Given the description of an element on the screen output the (x, y) to click on. 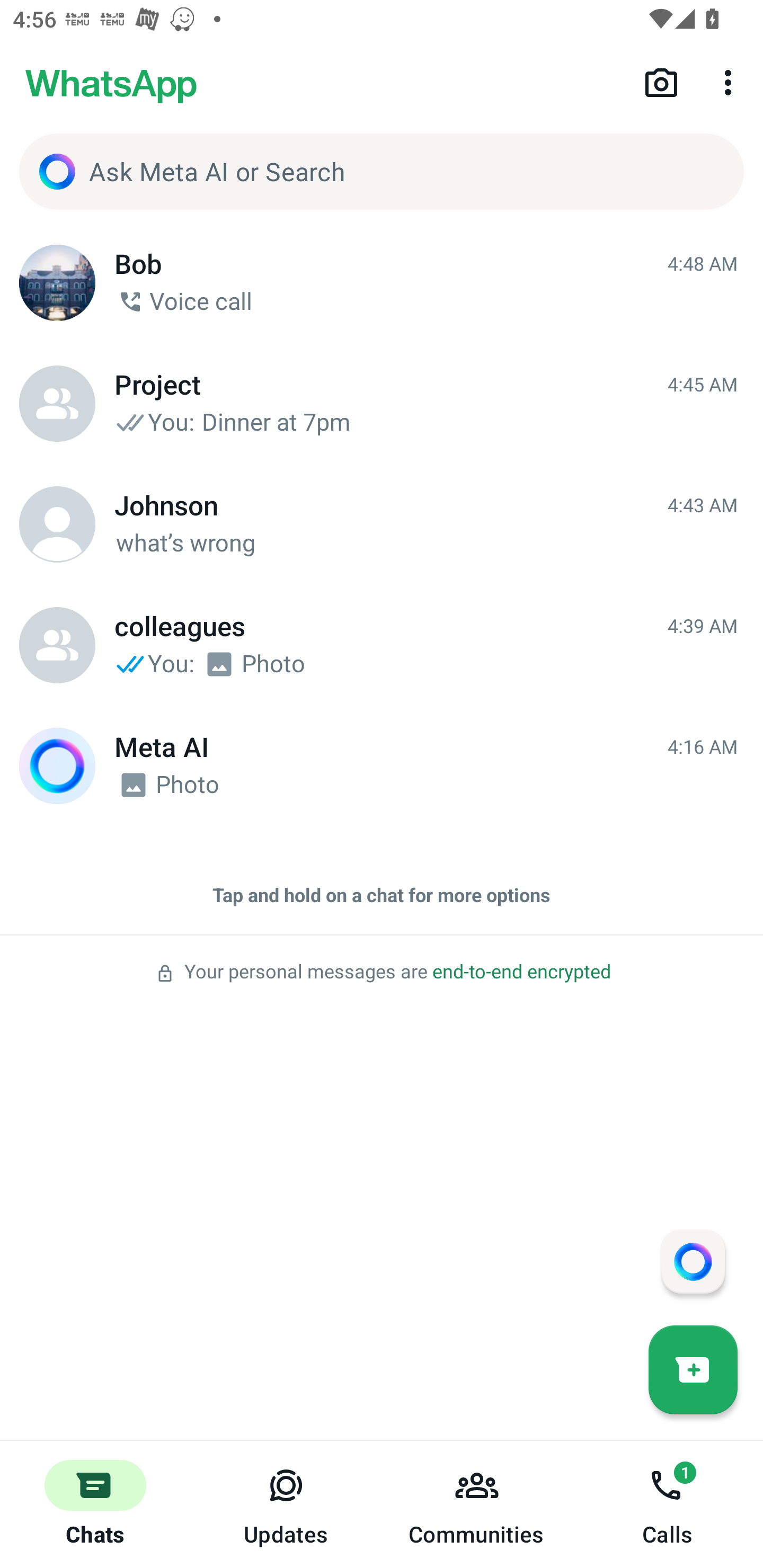
Camera (661, 81)
More options (731, 81)
Bob Bob 4:48 AM 4:48 AM Voice call (381, 282)
Bob (57, 282)
Project (57, 403)
Johnson Johnson 4:43 AM 4:43 AM what’s wrong (381, 524)
Johnson (57, 524)
colleagues colleagues 4:39 AM 4:39 AM You:  Photo (381, 644)
colleagues (57, 644)
Meta AI Meta AI 4:16 AM 4:16 AM Photo (381, 765)
Meta AI (57, 765)
end-to-end encrypted (521, 972)
Message your assistant (692, 1261)
New chat (692, 1369)
Updates (285, 1504)
Communities (476, 1504)
Calls, 1 new notification Calls (667, 1504)
